Given the description of an element on the screen output the (x, y) to click on. 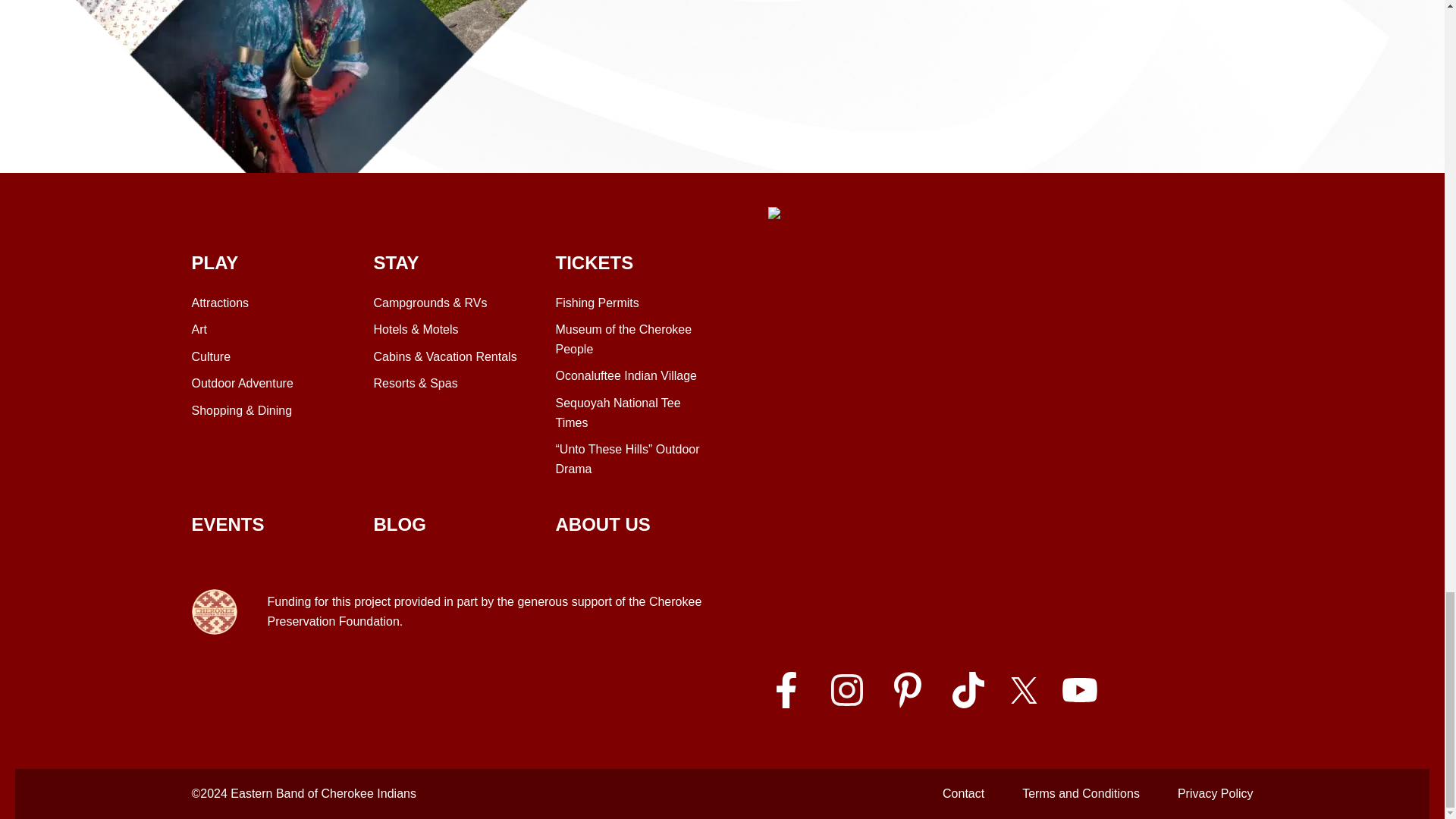
Attractions (630, 412)
STAY (219, 302)
BLOG (625, 375)
EVENTS (448, 262)
Culture (398, 524)
Outdoor Adventure (226, 524)
